Given the description of an element on the screen output the (x, y) to click on. 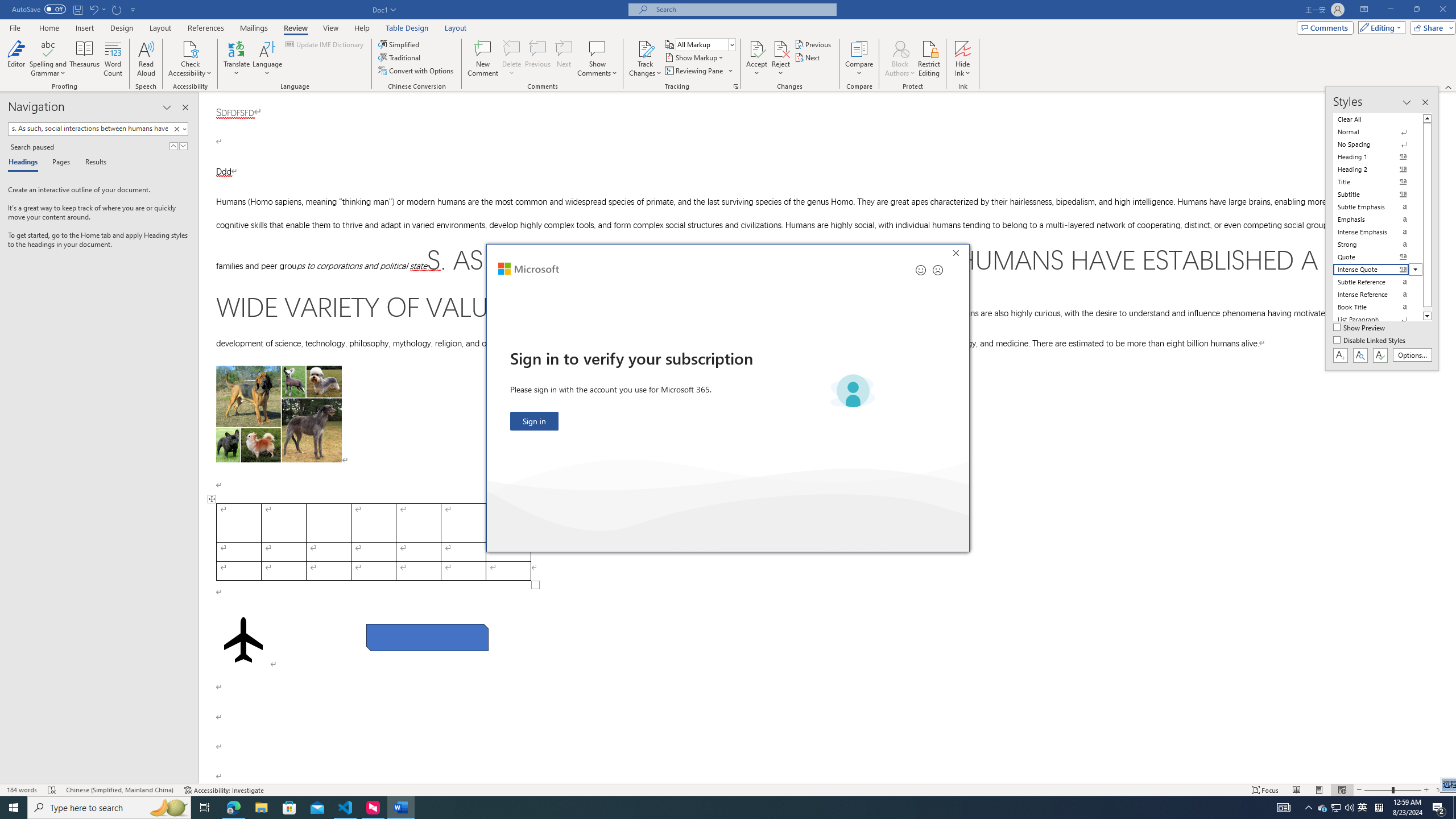
Hide Ink (962, 58)
Running applications (700, 807)
Read Aloud (145, 58)
Translate (236, 58)
Previous Result (173, 145)
Class: NetUIButton (1380, 355)
Repeat Style (117, 9)
